Given the description of an element on the screen output the (x, y) to click on. 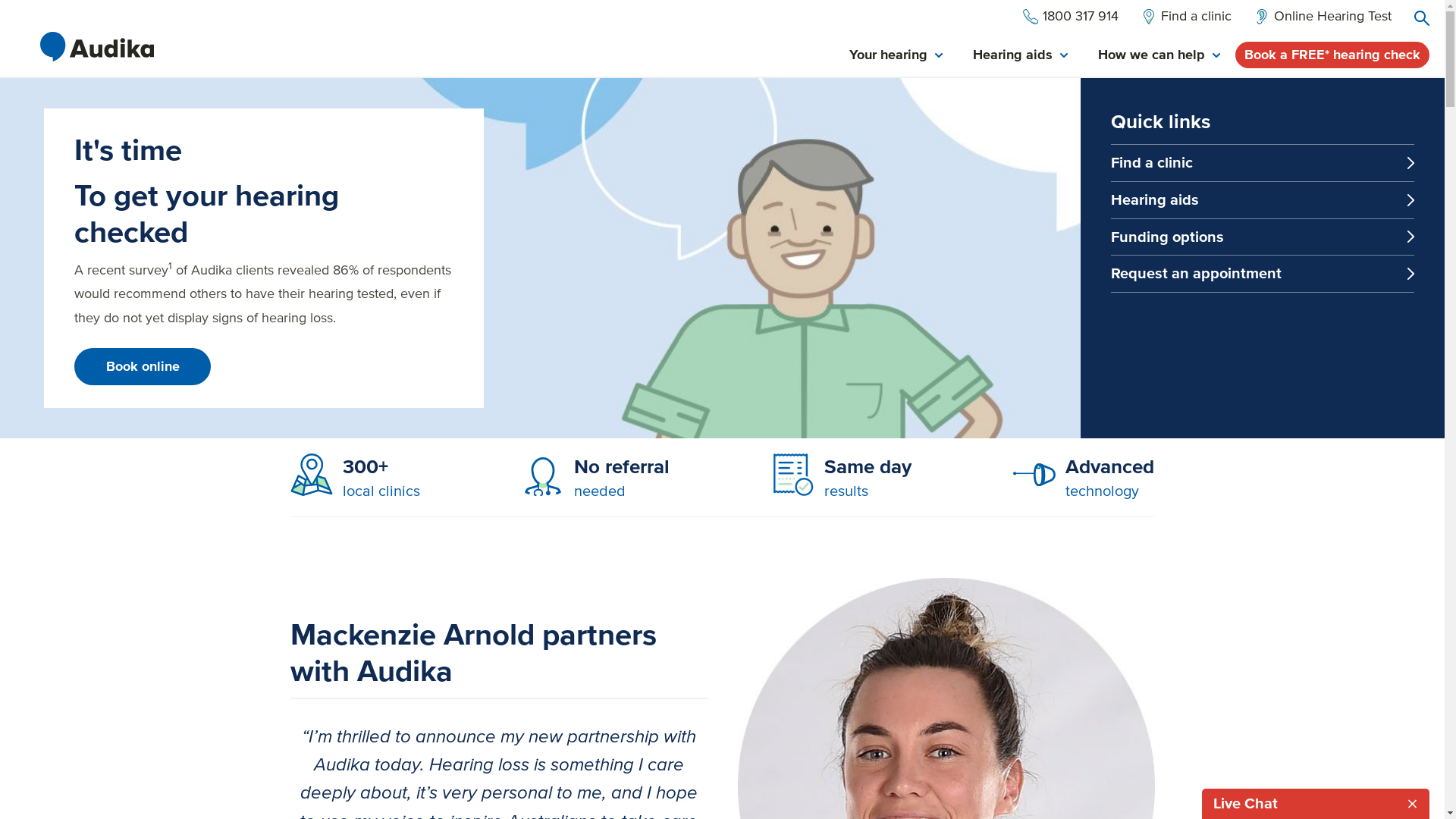
Book a FREE* hearing check Element type: text (1332, 54)
1800 317 914 Element type: text (1070, 16)
Find a clinic Element type: text (1262, 162)
Online Hearing Test Element type: text (1322, 16)
Hearing aids Element type: text (1262, 199)
Find a clinic Element type: text (1186, 16)
Your hearing Element type: text (895, 55)
Book online Element type: text (142, 366)
Request an appointment Element type: text (1262, 273)
search-label Element type: text (1421, 17)
300+
local clinics Element type: text (354, 477)
How we can help Element type: text (1159, 55)
Hearing aids Element type: text (1019, 55)
Funding options Element type: text (1262, 236)
